Given the description of an element on the screen output the (x, y) to click on. 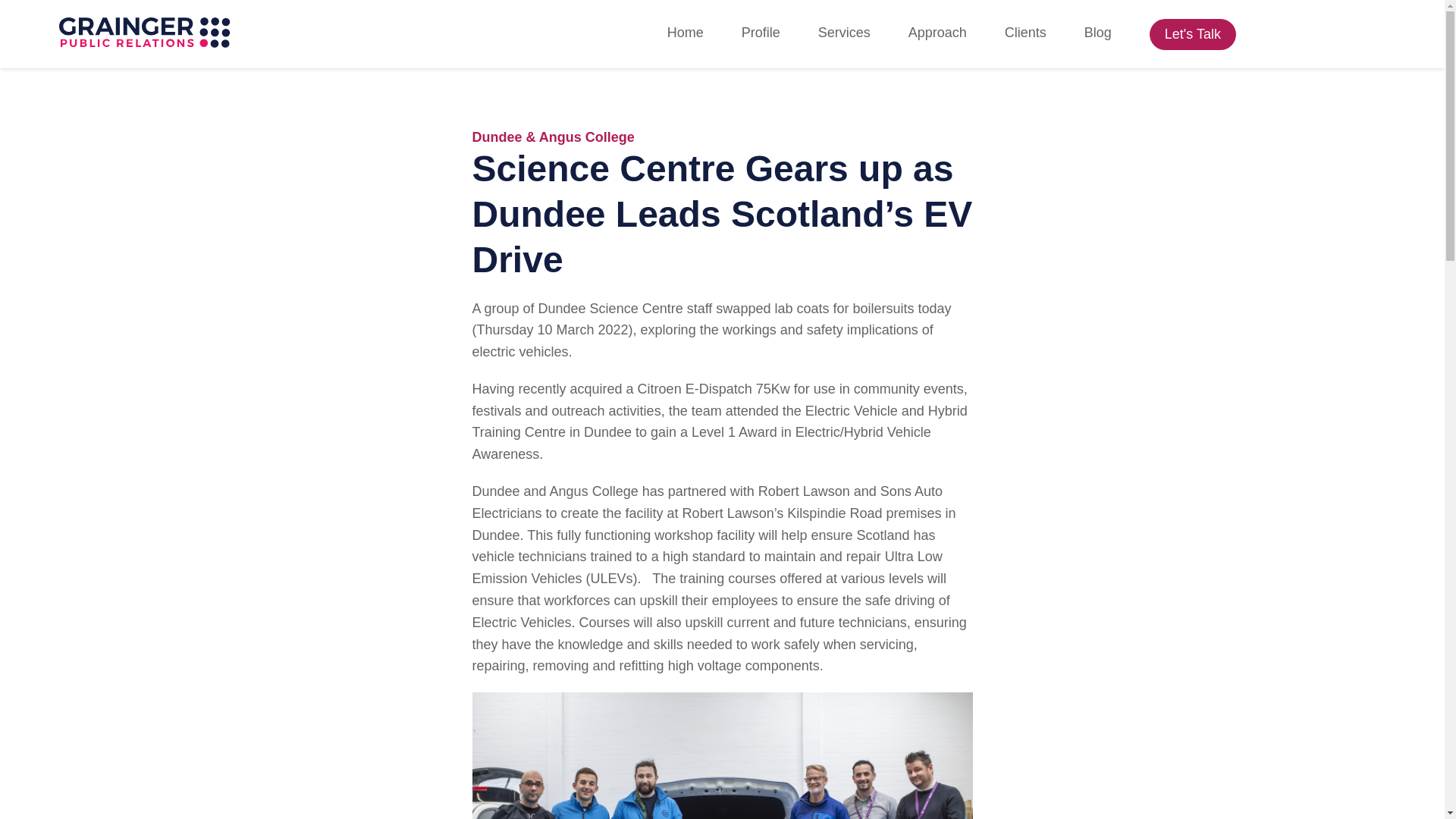
Return to Grainger PR homepage (144, 33)
Let's Talk (1193, 33)
Profile (760, 33)
Home (684, 33)
Services (844, 33)
Clients (1025, 33)
Approach (937, 33)
